Given the description of an element on the screen output the (x, y) to click on. 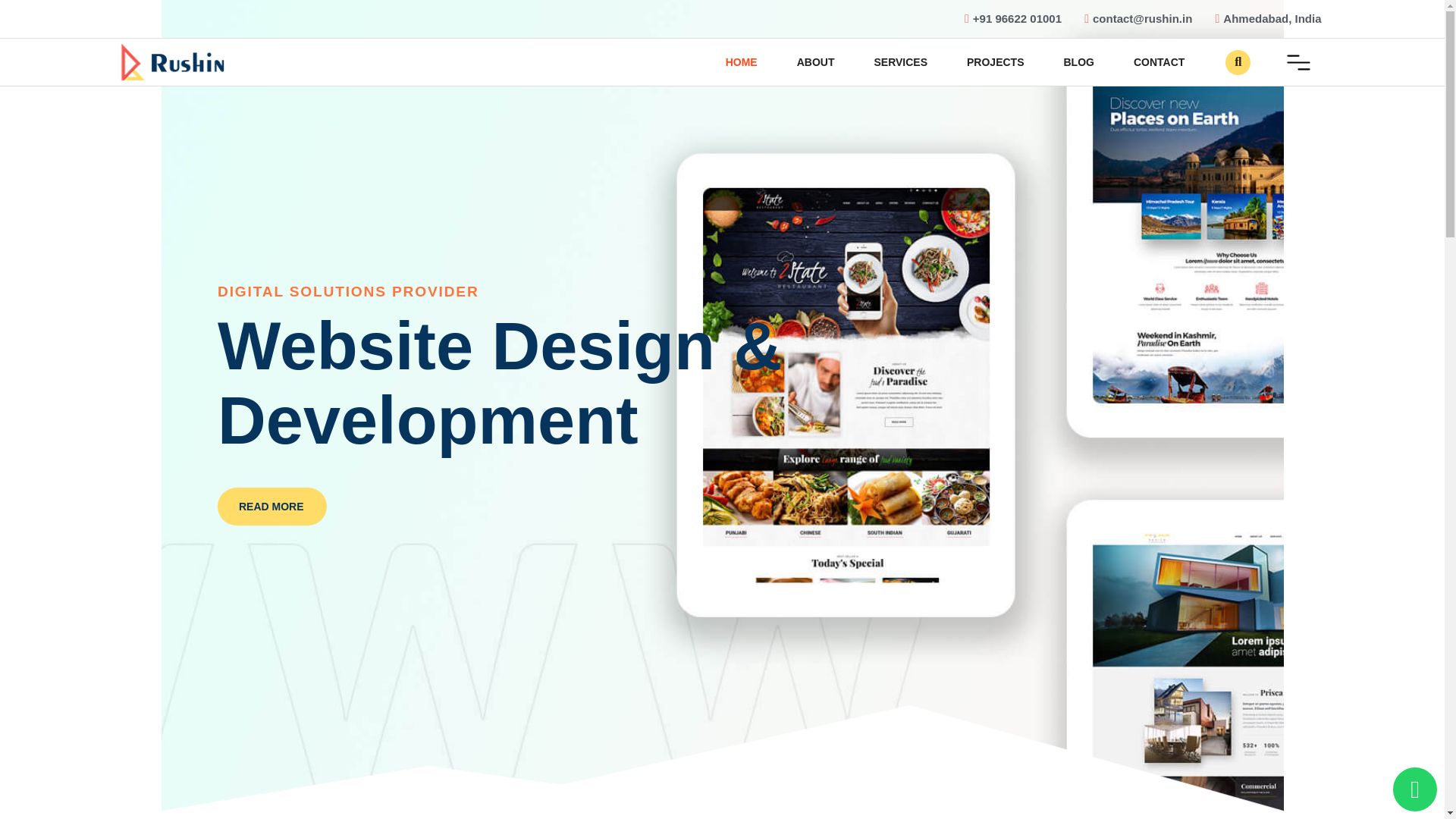
ABOUT (815, 62)
HOME (741, 62)
SERVICES (900, 62)
